Given the description of an element on the screen output the (x, y) to click on. 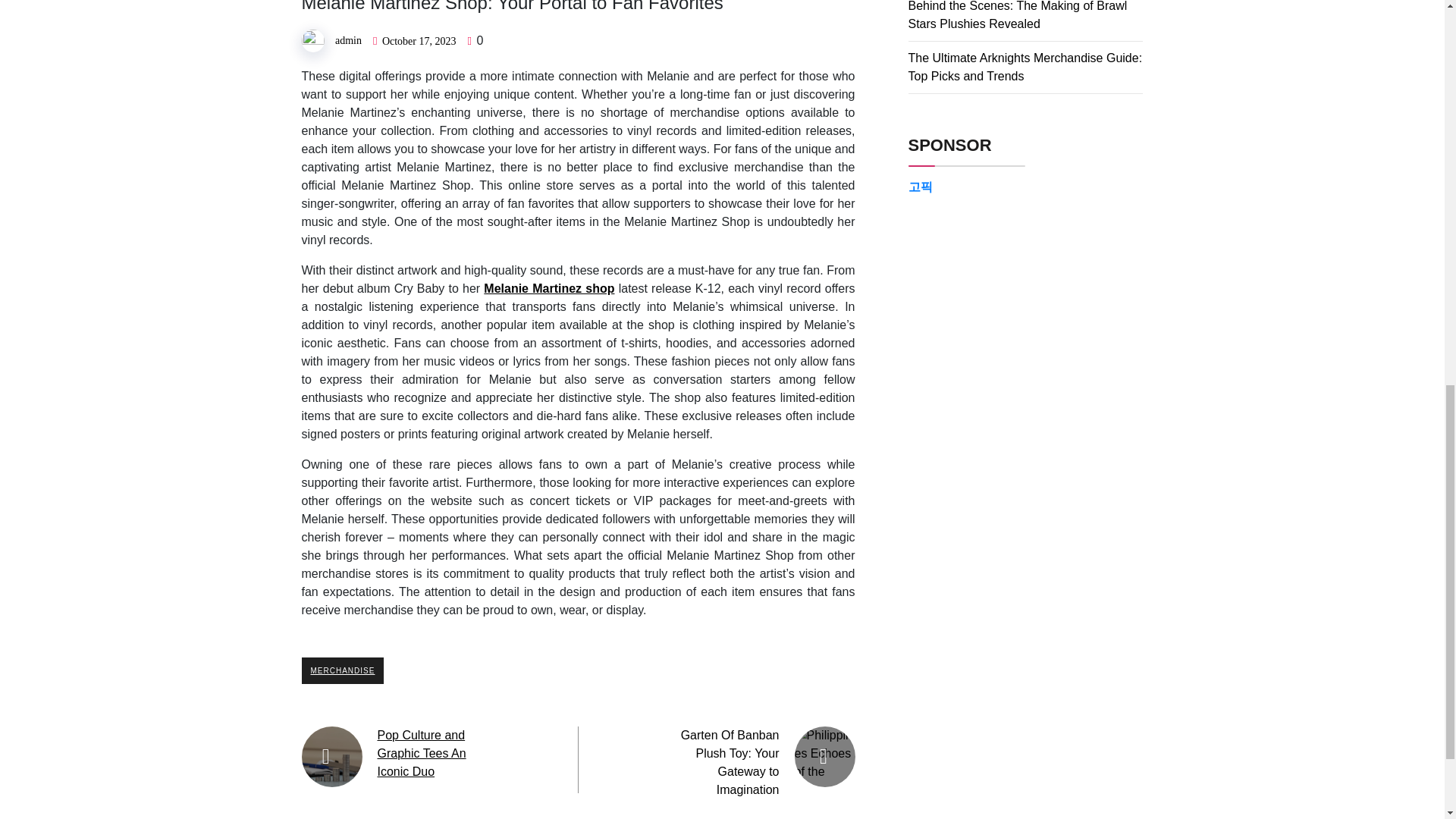
Garten Of Banban Plush Toy: Your Gateway to Imagination (729, 762)
Melanie Martinez shop (548, 287)
October 17, 2023 (419, 41)
Pop Culture and Graphic Tees An Iconic Duo (421, 753)
MERCHANDISE (342, 670)
admin (347, 40)
